Given the description of an element on the screen output the (x, y) to click on. 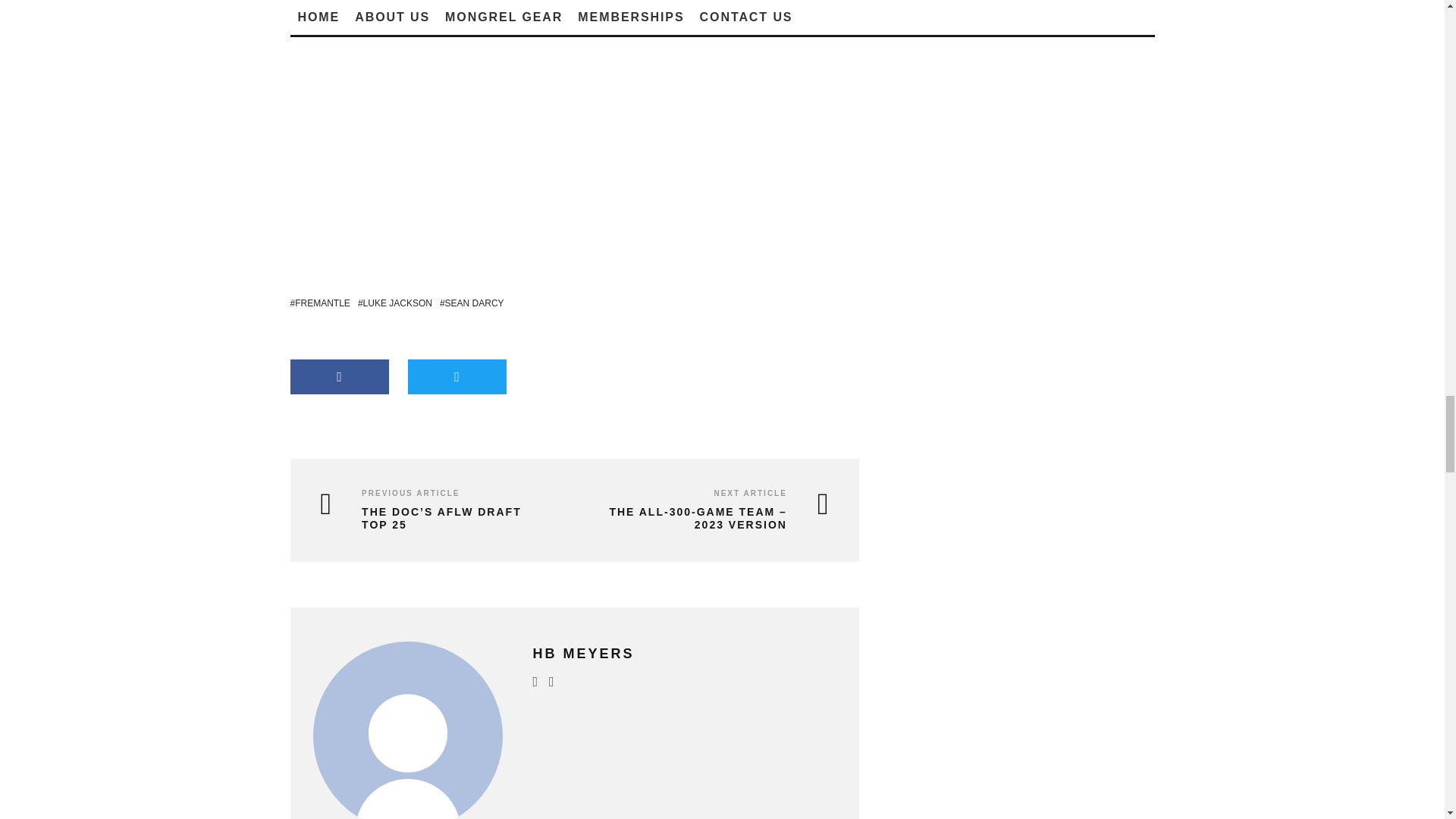
NEXT ARTICLE (749, 492)
LUKE JACKSON (395, 303)
HB MEYERS (582, 653)
FREMANTLE (319, 303)
SEAN DARCY (471, 303)
PREVIOUS ARTICLE (410, 492)
